Given the description of an element on the screen output the (x, y) to click on. 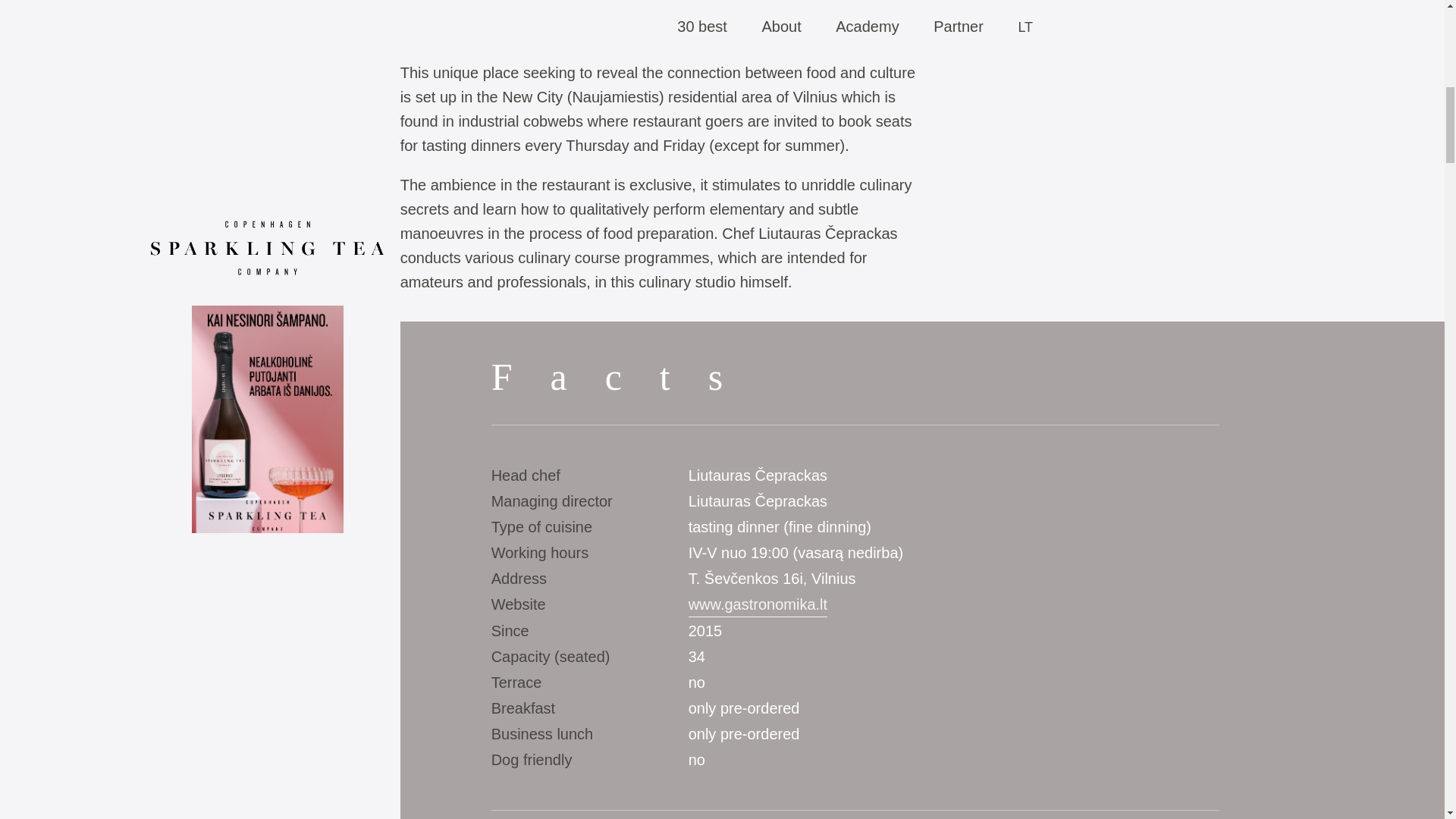
www.gastronomika.lt (757, 604)
